Given the description of an element on the screen output the (x, y) to click on. 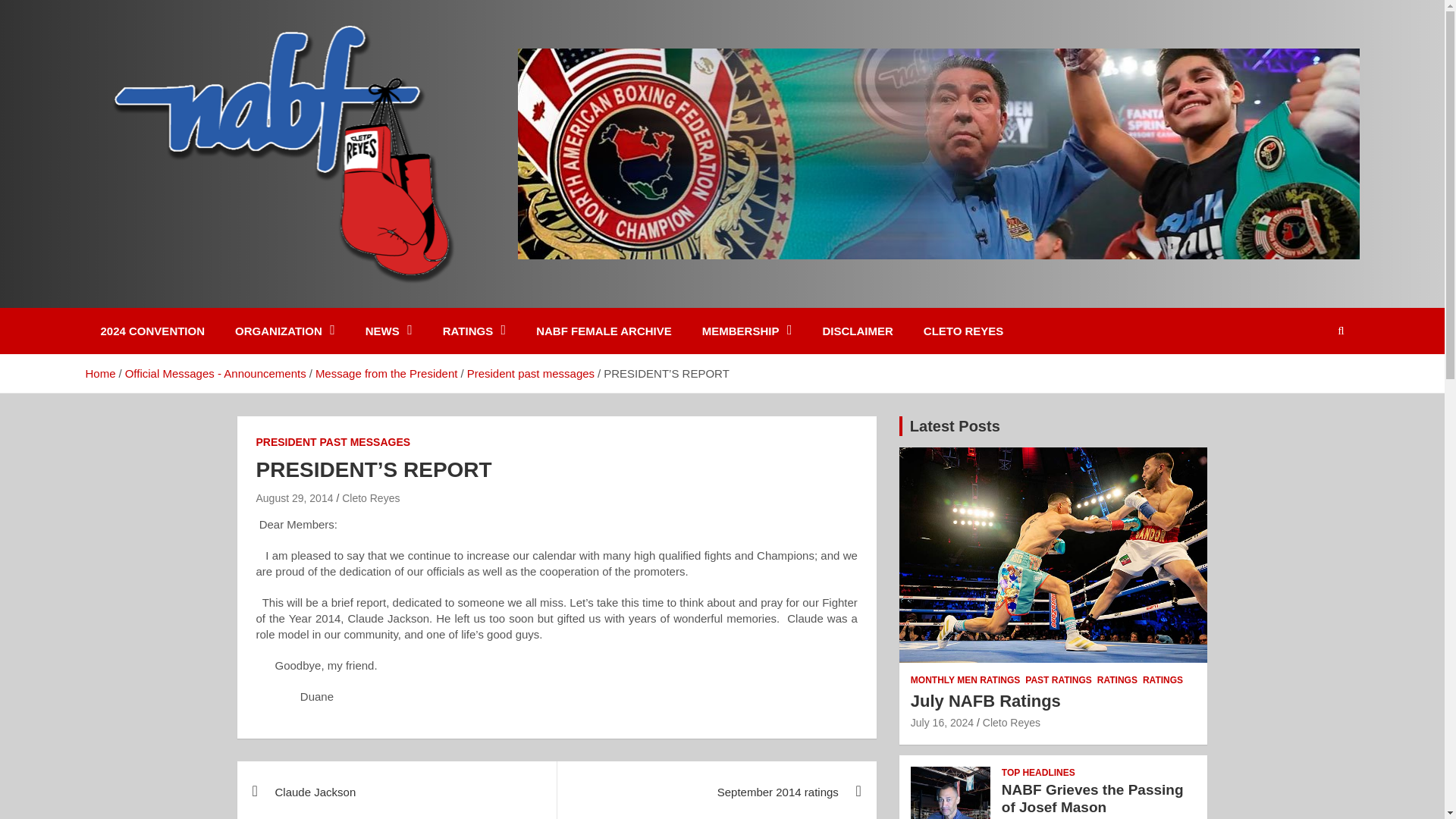
2024 CONVENTION (151, 330)
NEWS (389, 330)
NABF FEMALE ARCHIVE (604, 330)
Cleto Reyes (370, 498)
MEMBERSHIP (747, 330)
Official Messages - Announcements (215, 373)
DISCLAIMER (856, 330)
August 29, 2014 (294, 498)
July NAFB Ratings (942, 722)
NABF (126, 304)
Home (99, 373)
CLETO REYES (963, 330)
PRESIDENT PAST MESSAGES (333, 442)
President past messages (530, 373)
RATINGS (474, 330)
